Given the description of an element on the screen output the (x, y) to click on. 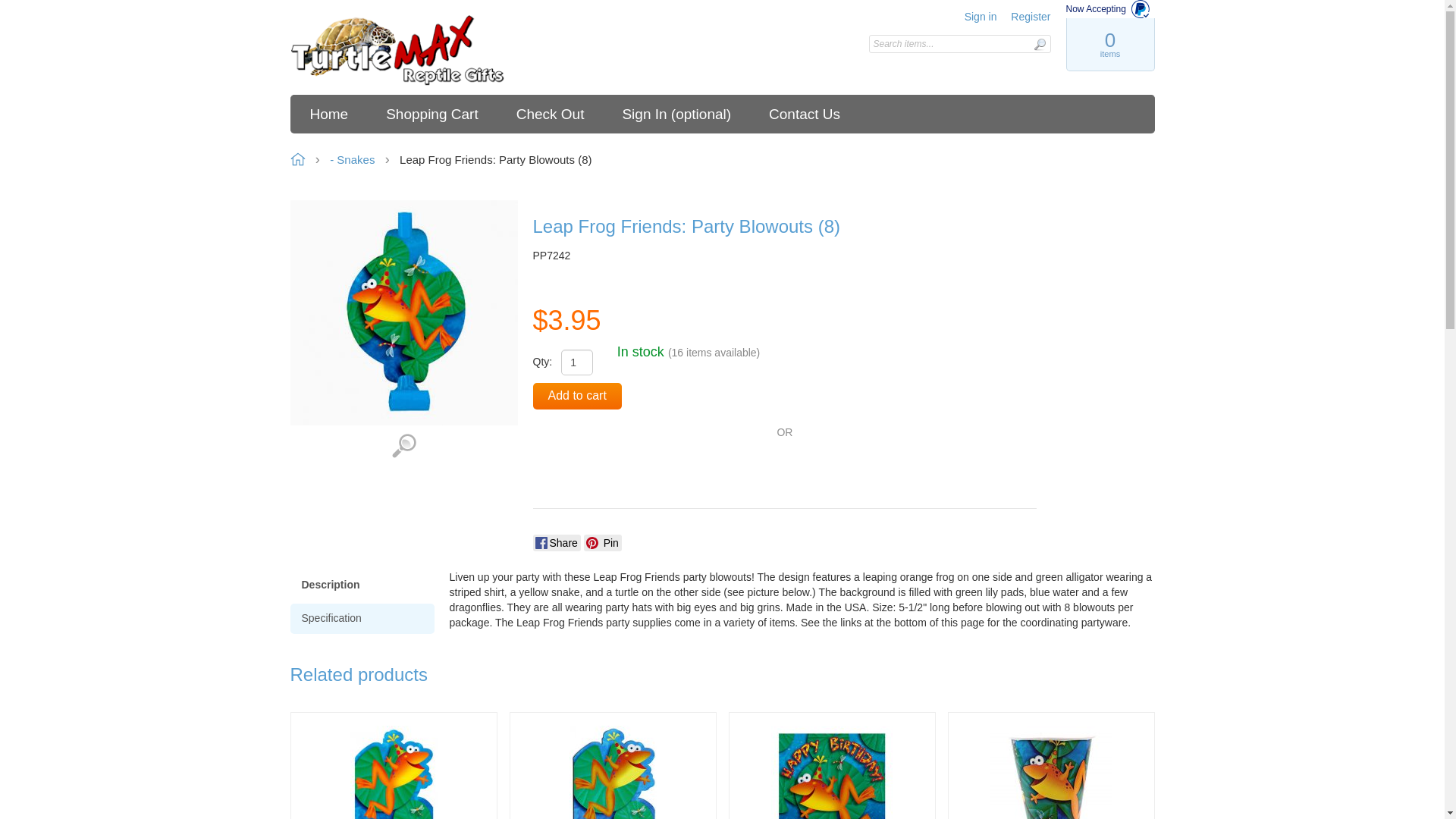
1 (576, 362)
Quantity (576, 362)
Search (1039, 43)
Your cart (1109, 44)
PayPal (589, 470)
Now Accepting PayPal (1109, 9)
Home (397, 50)
